Given the description of an element on the screen output the (x, y) to click on. 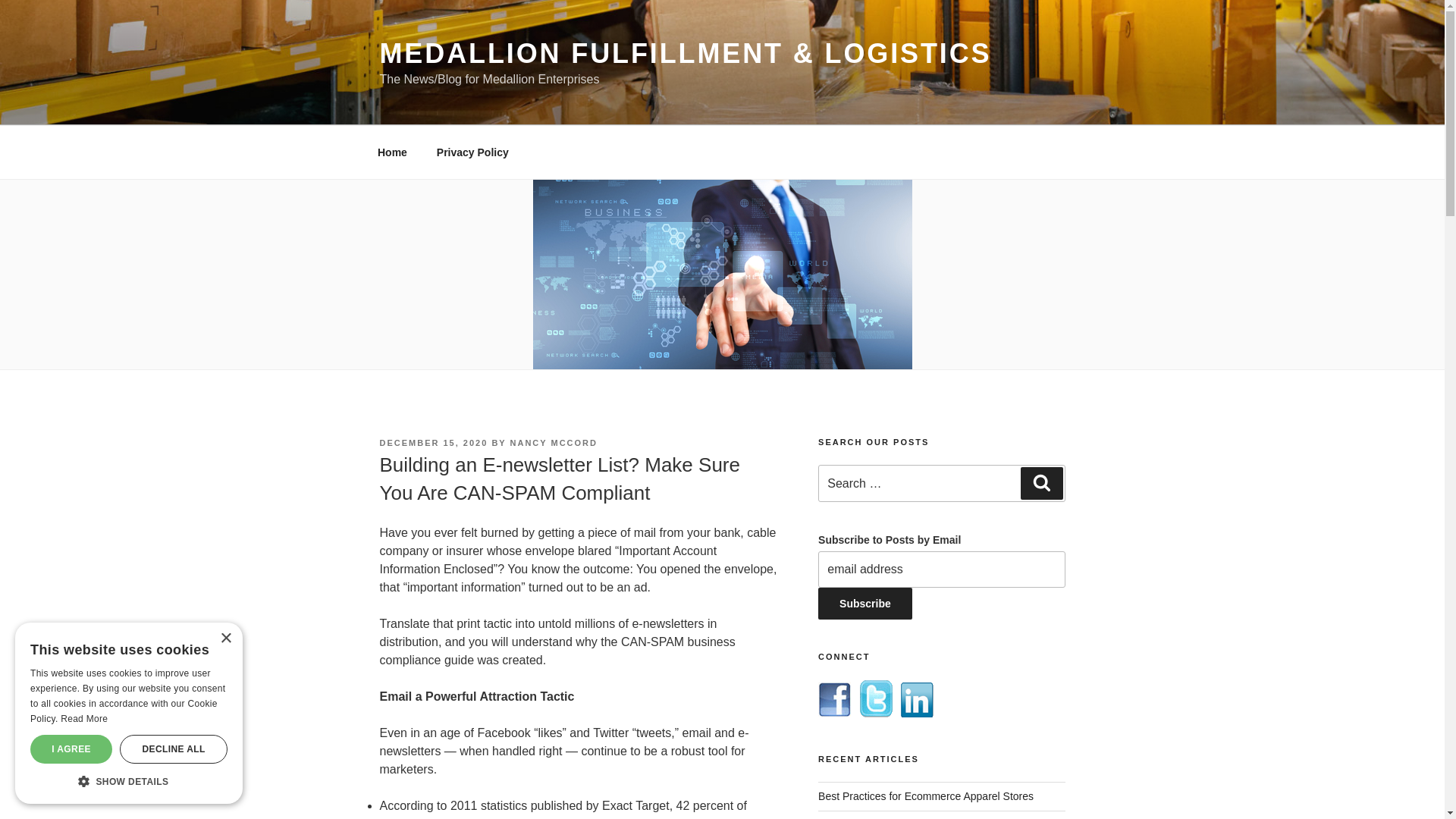
Subscribe (865, 603)
Home (392, 151)
Privacy Policy (472, 151)
Search (1041, 482)
Best Practices for Ecommerce Apparel Stores (925, 796)
DECEMBER 15, 2020 (432, 442)
Subscribe (865, 603)
NANCY MCCORD (553, 442)
